Given the description of an element on the screen output the (x, y) to click on. 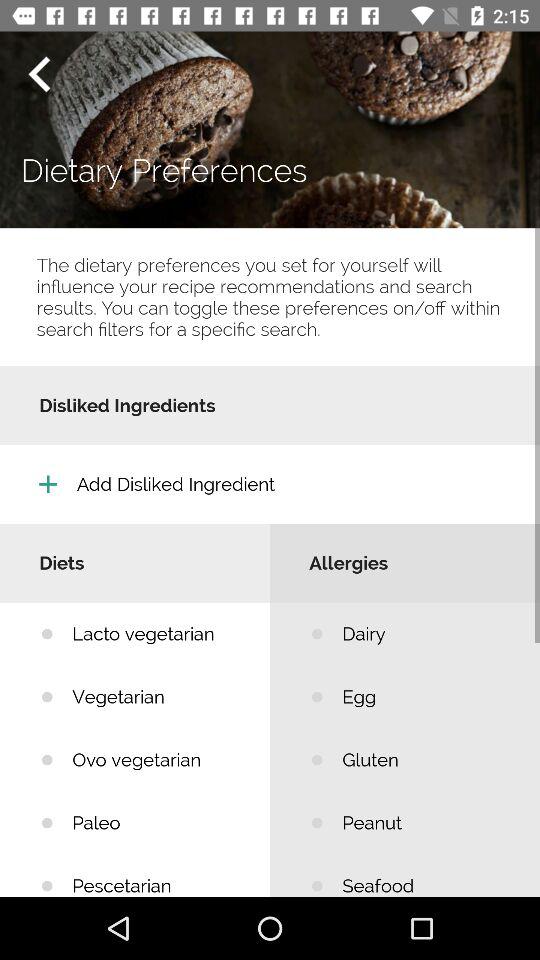
swipe to seafood icon (426, 875)
